Given the description of an element on the screen output the (x, y) to click on. 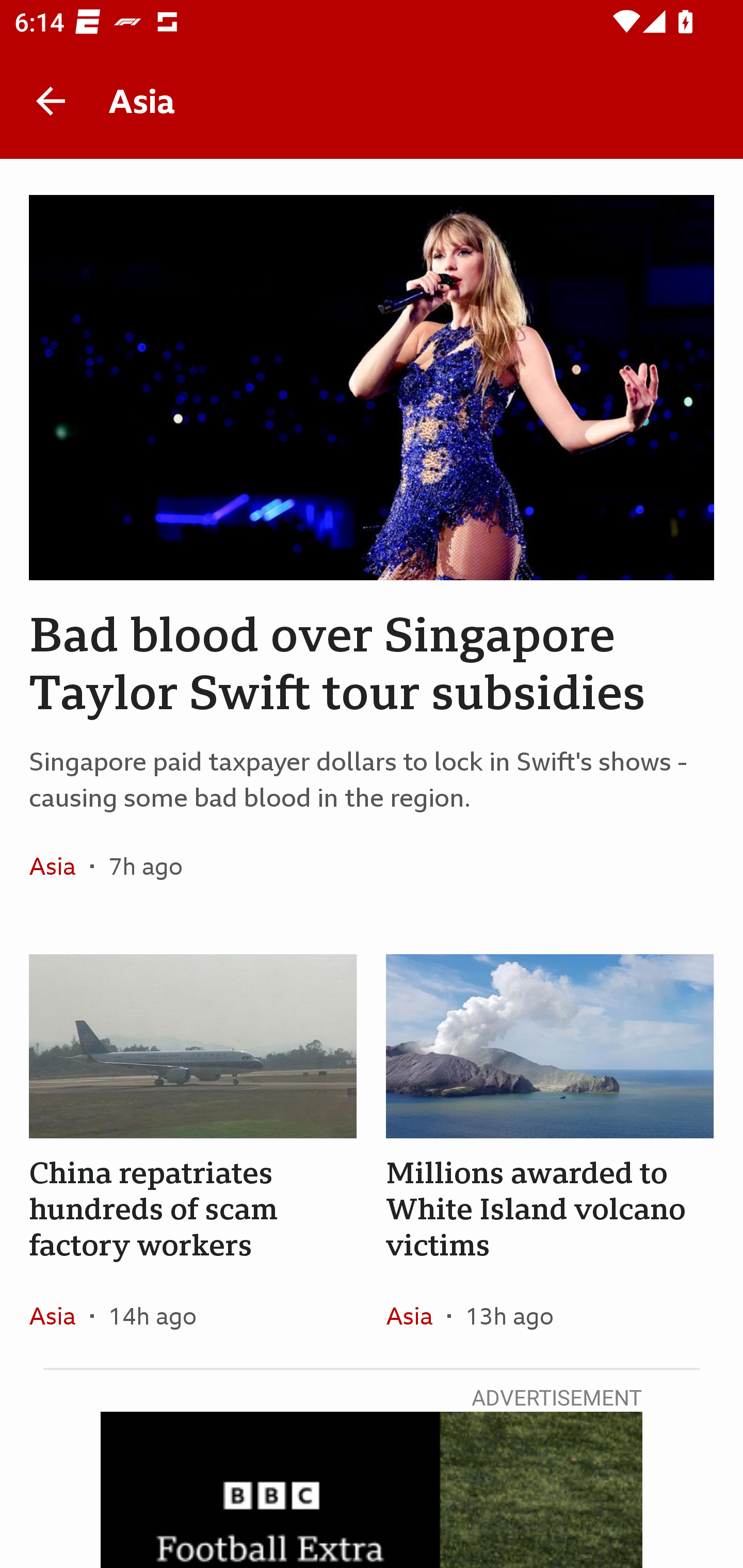
Back (50, 101)
Asia In the section Asia (59, 865)
Asia In the section Asia (59, 1315)
Asia In the section Asia (416, 1315)
